Given the description of an element on the screen output the (x, y) to click on. 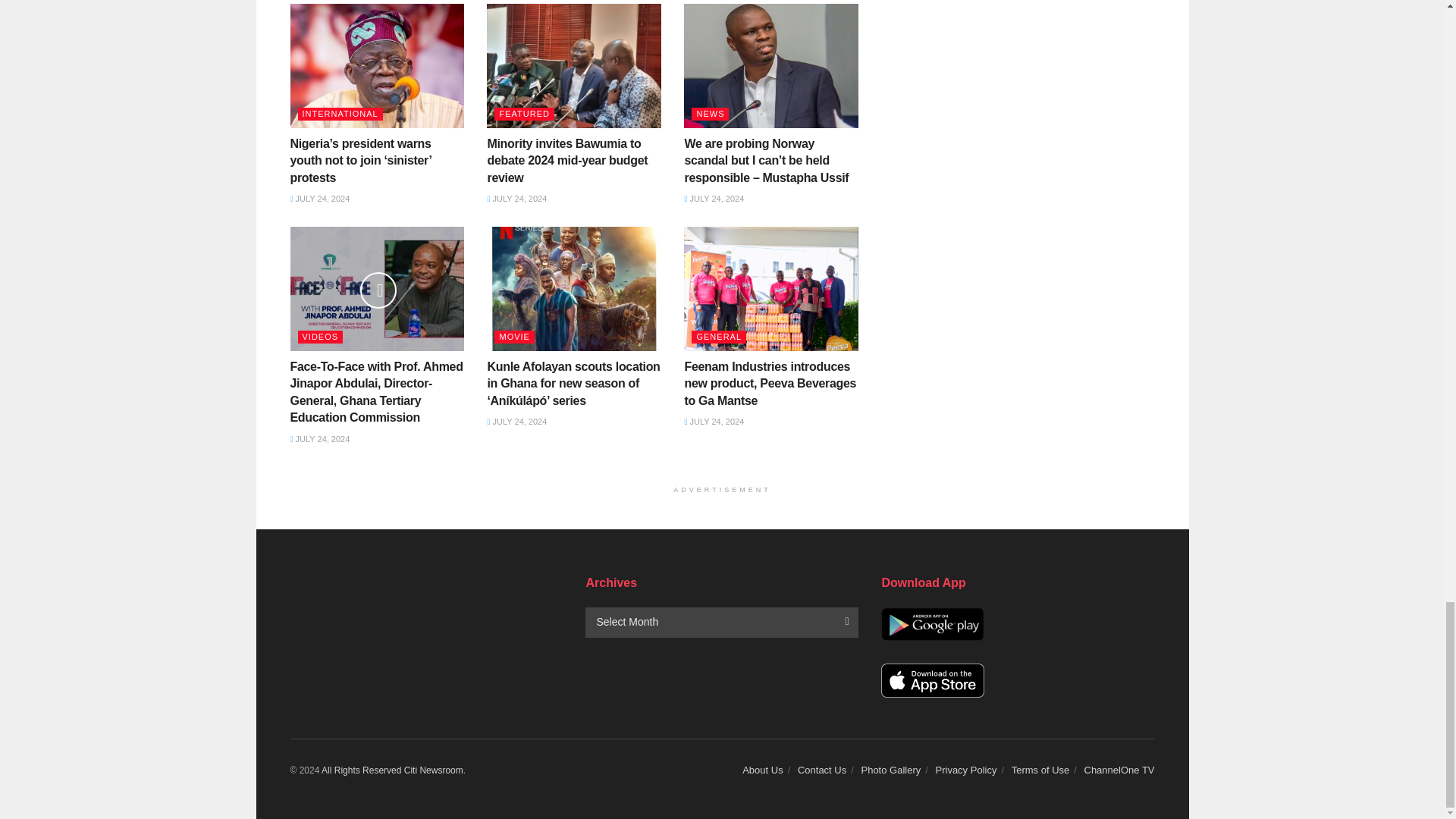
Citi Newsroom (433, 769)
Citi Newsroom (361, 769)
App Store (932, 680)
Google Play (932, 624)
